Given the description of an element on the screen output the (x, y) to click on. 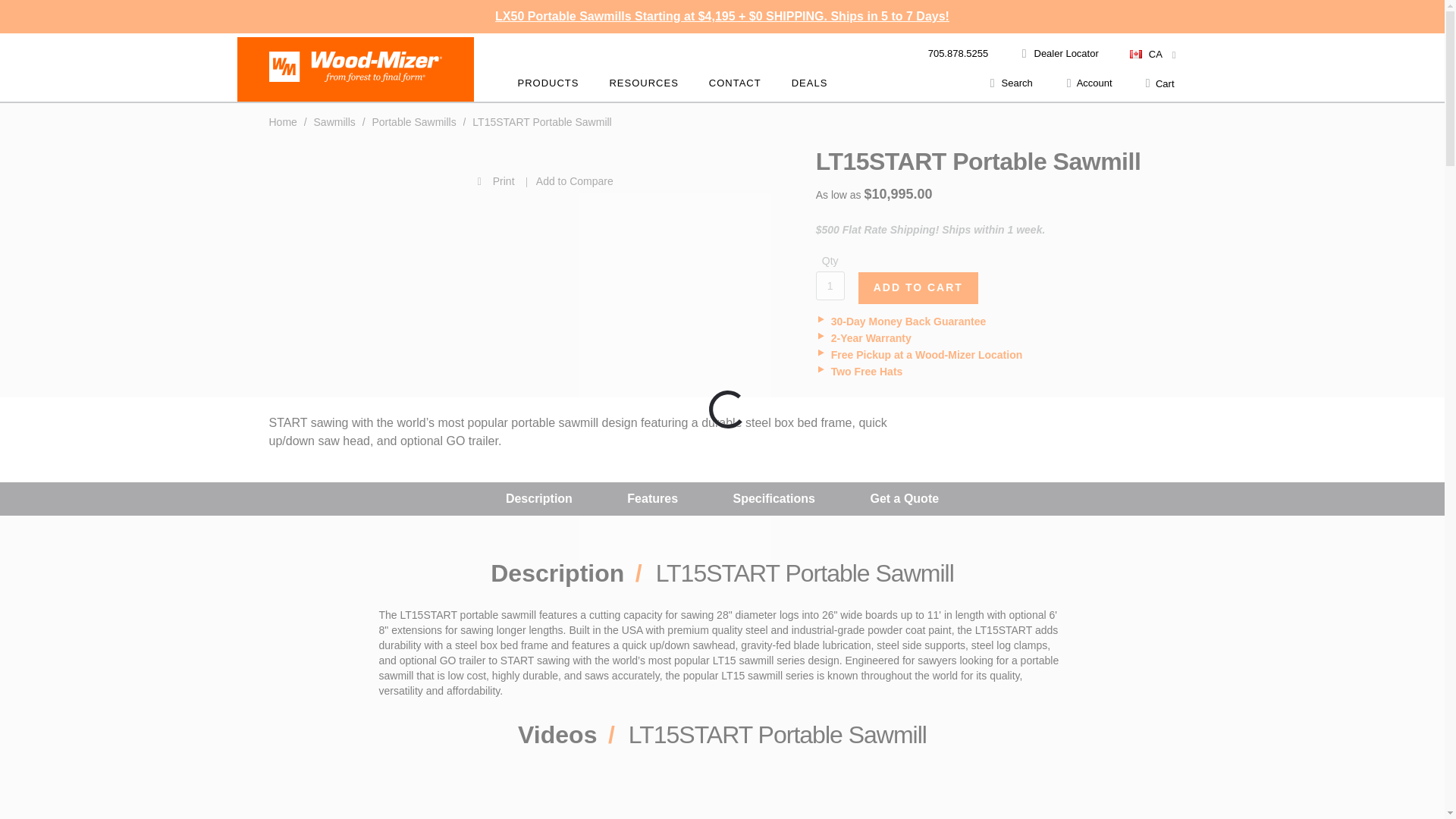
1 (829, 285)
Go to Home Page (283, 121)
Add to Cart (918, 287)
Qty (829, 285)
Print (394, 181)
